Given the description of an element on the screen output the (x, y) to click on. 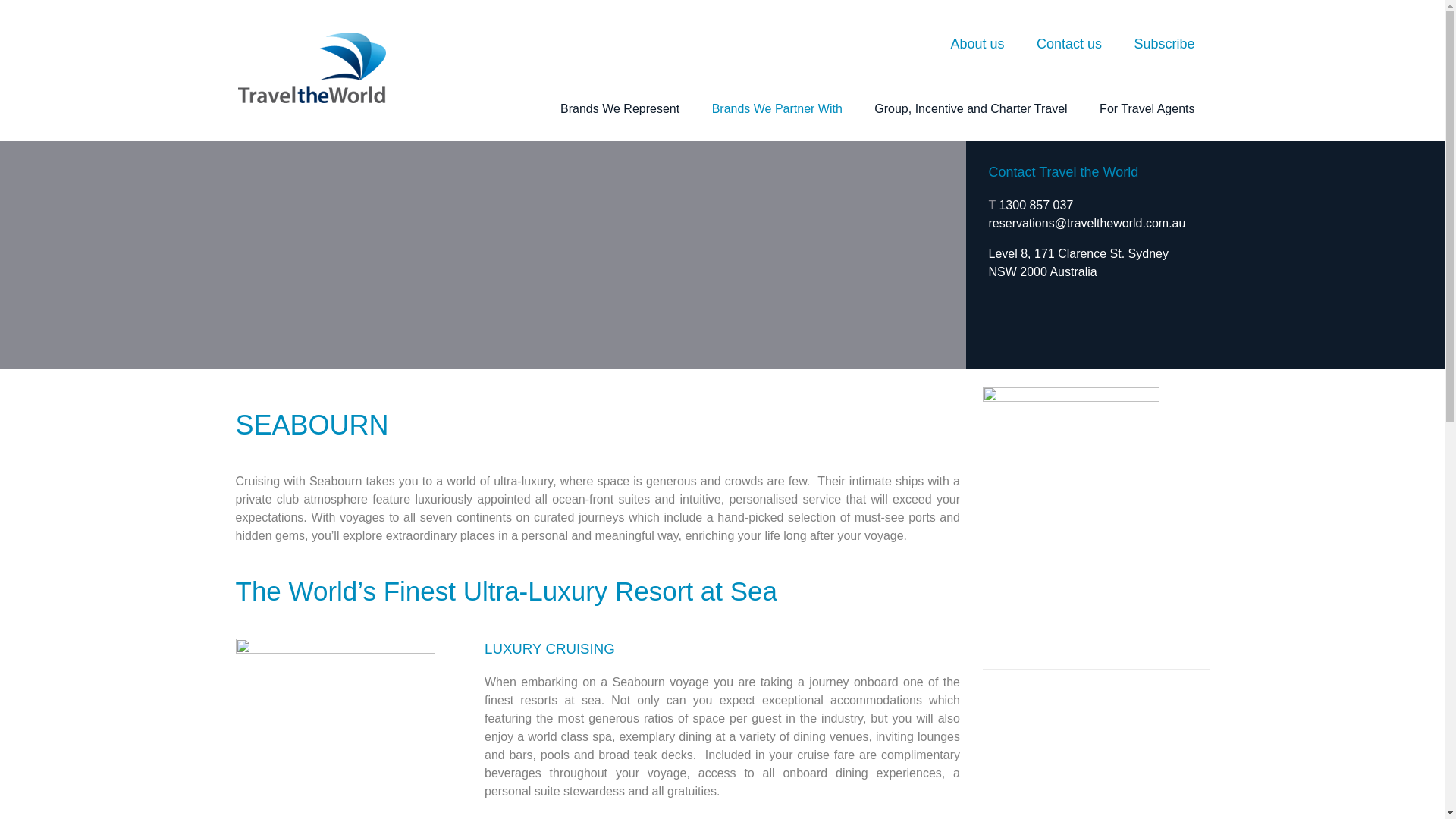
Subscribe (1163, 44)
sbn-luxury-cruising (333, 712)
Brands We Partner With (776, 108)
About us (976, 44)
Contact us (1069, 44)
seabourn-logo (1070, 423)
For Travel Agents (1146, 108)
Group, Incentive and Charter Travel (970, 108)
Brands We Represent (619, 108)
